Given the description of an element on the screen output the (x, y) to click on. 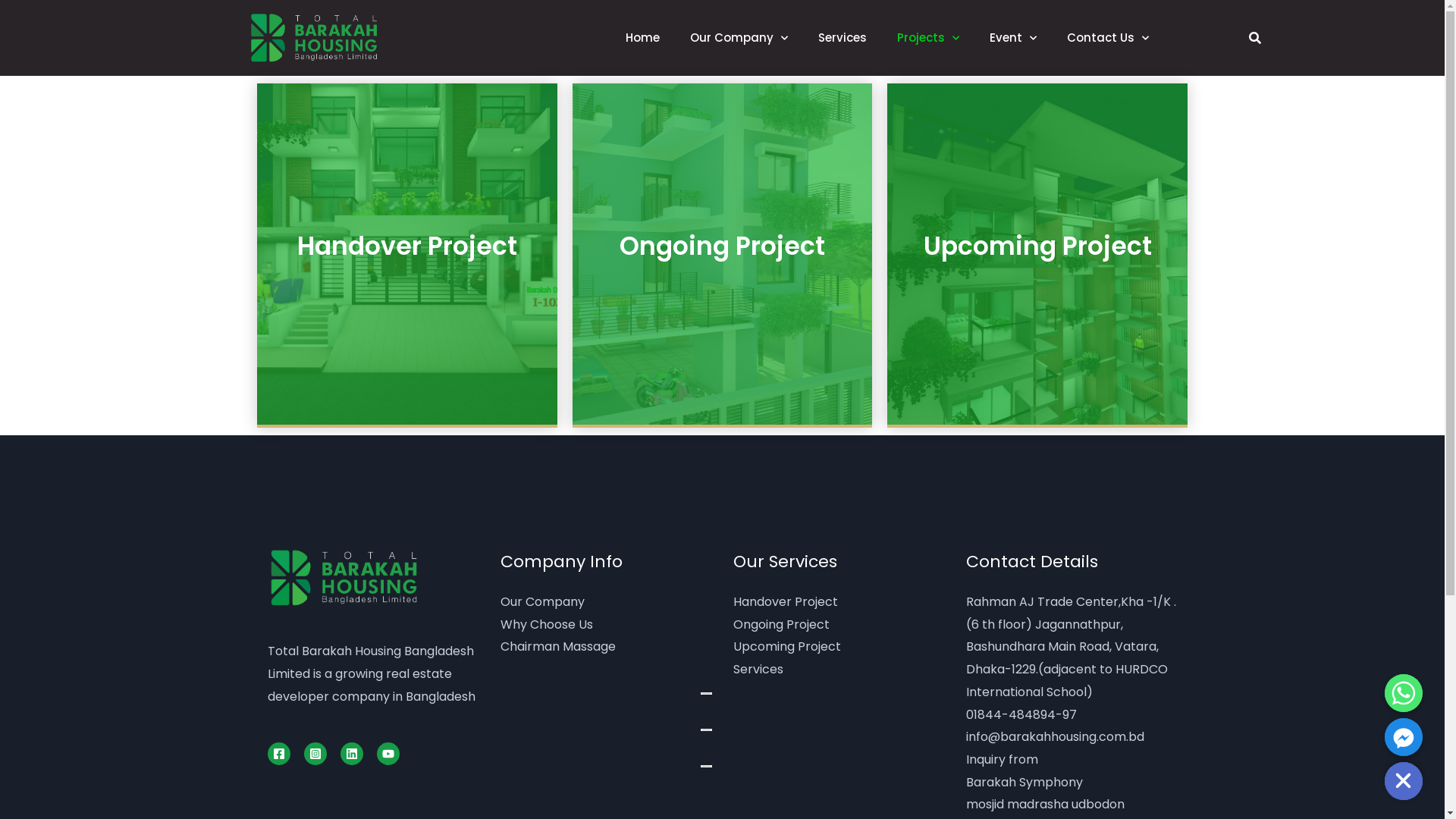
Event Element type: text (1012, 37)
Hide Chaty Element type: text (1403, 781)
Our Company Element type: text (542, 601)
Upcoming Project Element type: text (786, 646)
Chairman Massage Element type: text (557, 646)
Home Element type: text (642, 37)
Inquiry from Element type: text (1002, 759)
mosjid madrasha udbodon Element type: text (1045, 803)
Projects Element type: text (927, 37)
Handover Project Element type: text (784, 601)
Ongoing Project Element type: text (780, 624)
Services Element type: text (757, 668)
Services Element type: text (842, 37)
01844-484894-97 Element type: text (1021, 714)
Our Company Element type: text (738, 37)
http://ft.umb.ac.id/wp-content/wix/flickshoot/slot5000/ Element type: text (598, 762)
idn poker Element type: text (545, 806)
Contact Us Element type: text (1107, 37)
info@barakahhousing.com.bd Element type: text (1055, 736)
https://esm.emines.um6p.ma/css/panen4d/ Element type: text (598, 714)
Why Choose Us Element type: text (546, 624)
slot300 Element type: text (539, 775)
daftar slot300 Element type: text (559, 797)
Barakah Symphony Element type: text (1024, 781)
